Given the description of an element on the screen output the (x, y) to click on. 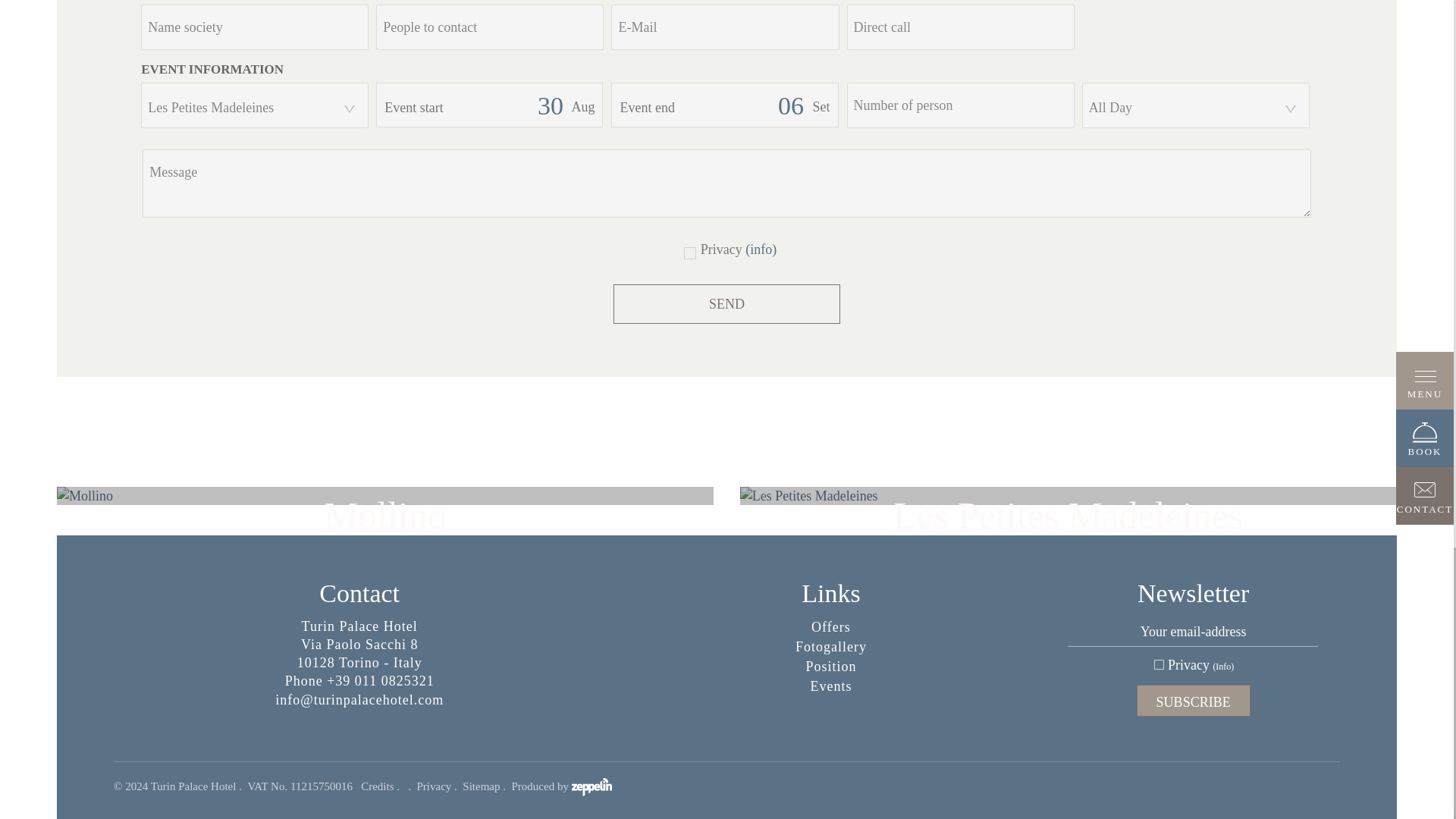
Number of person (960, 104)
Name society (254, 26)
E-Mail (724, 26)
Your email-address (1192, 631)
People to contact (489, 26)
Direct call (960, 26)
